Given the description of an element on the screen output the (x, y) to click on. 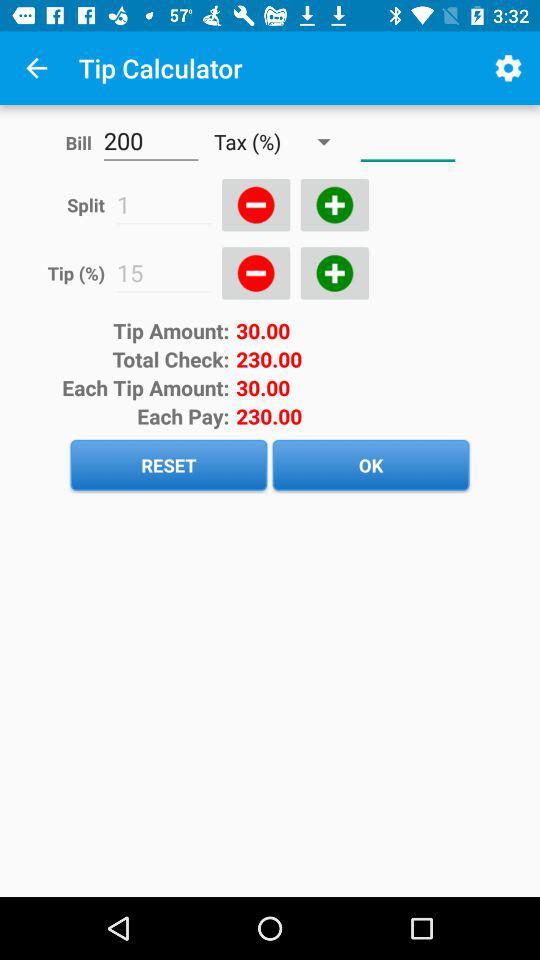
increase tip percentage (334, 273)
